Given the description of an element on the screen output the (x, y) to click on. 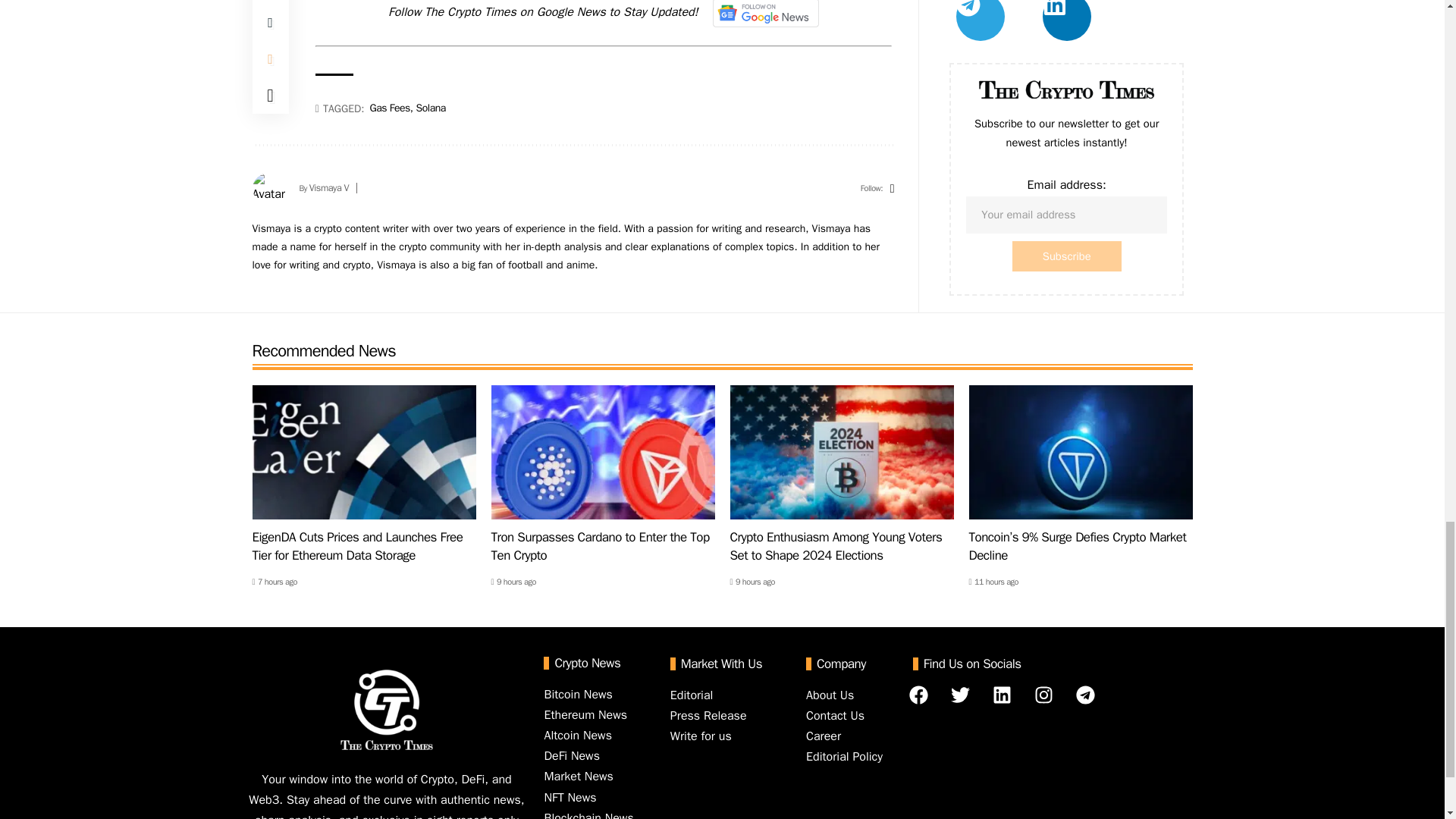
Tron Surpasses Cardano to Enter the Top Ten Crypto (603, 451)
